Given the description of an element on the screen output the (x, y) to click on. 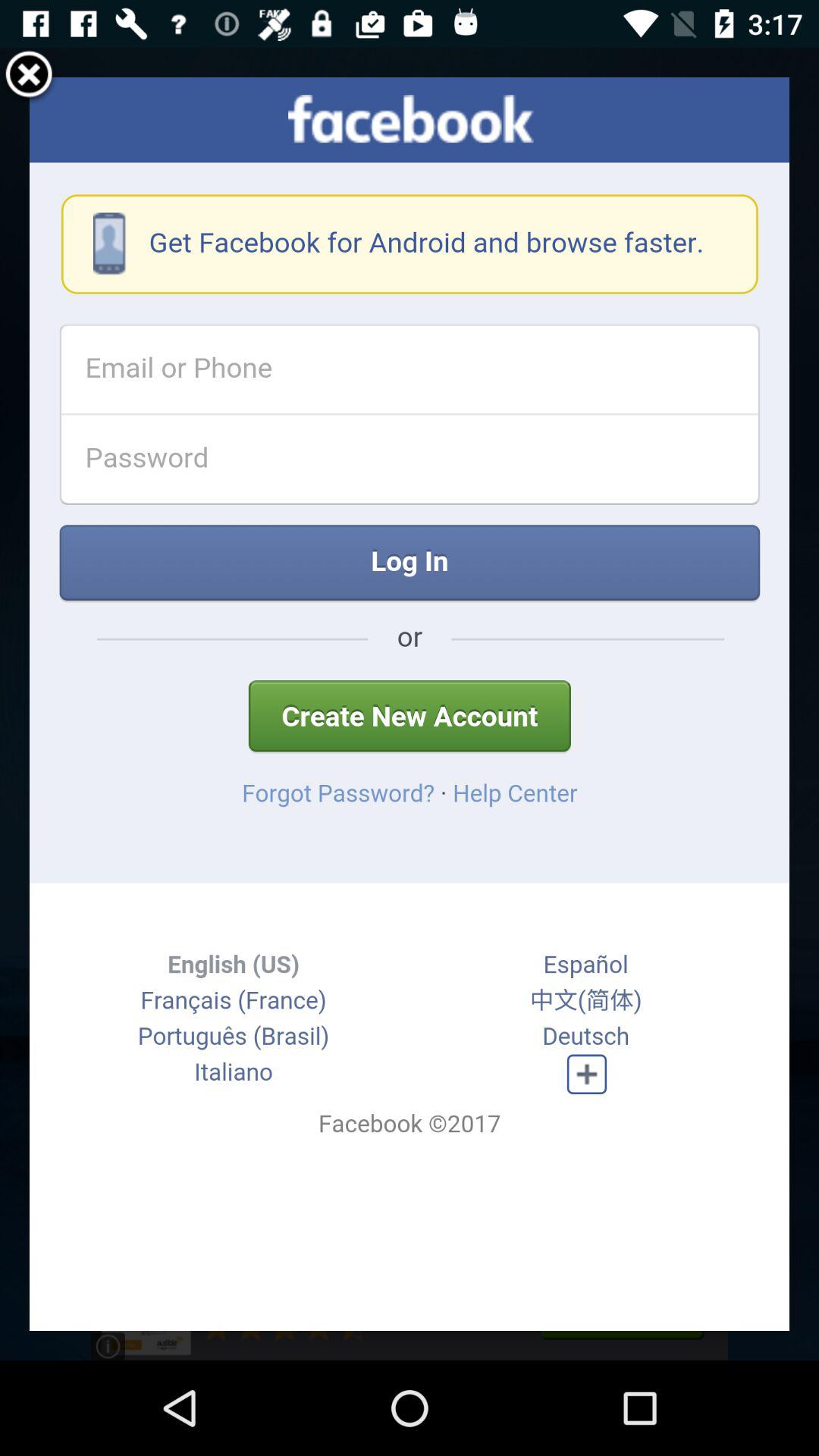
facebook (409, 703)
